Given the description of an element on the screen output the (x, y) to click on. 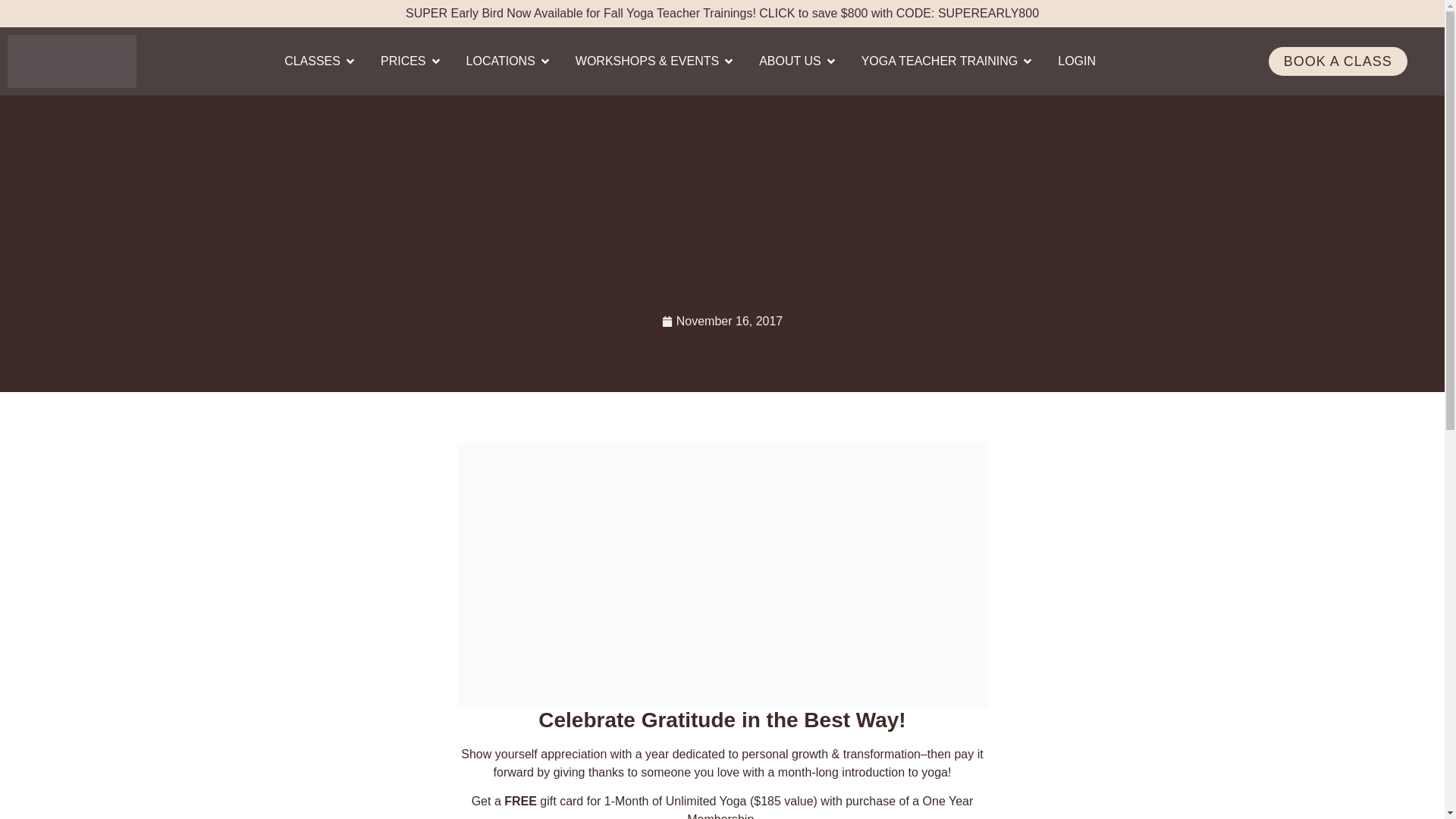
PRICES (403, 61)
LOCATIONS (500, 61)
ABOUT US (789, 61)
LOGIN (1077, 61)
YOGA TEACHER TRAINING (939, 61)
CLASSES (311, 61)
